Given the description of an element on the screen output the (x, y) to click on. 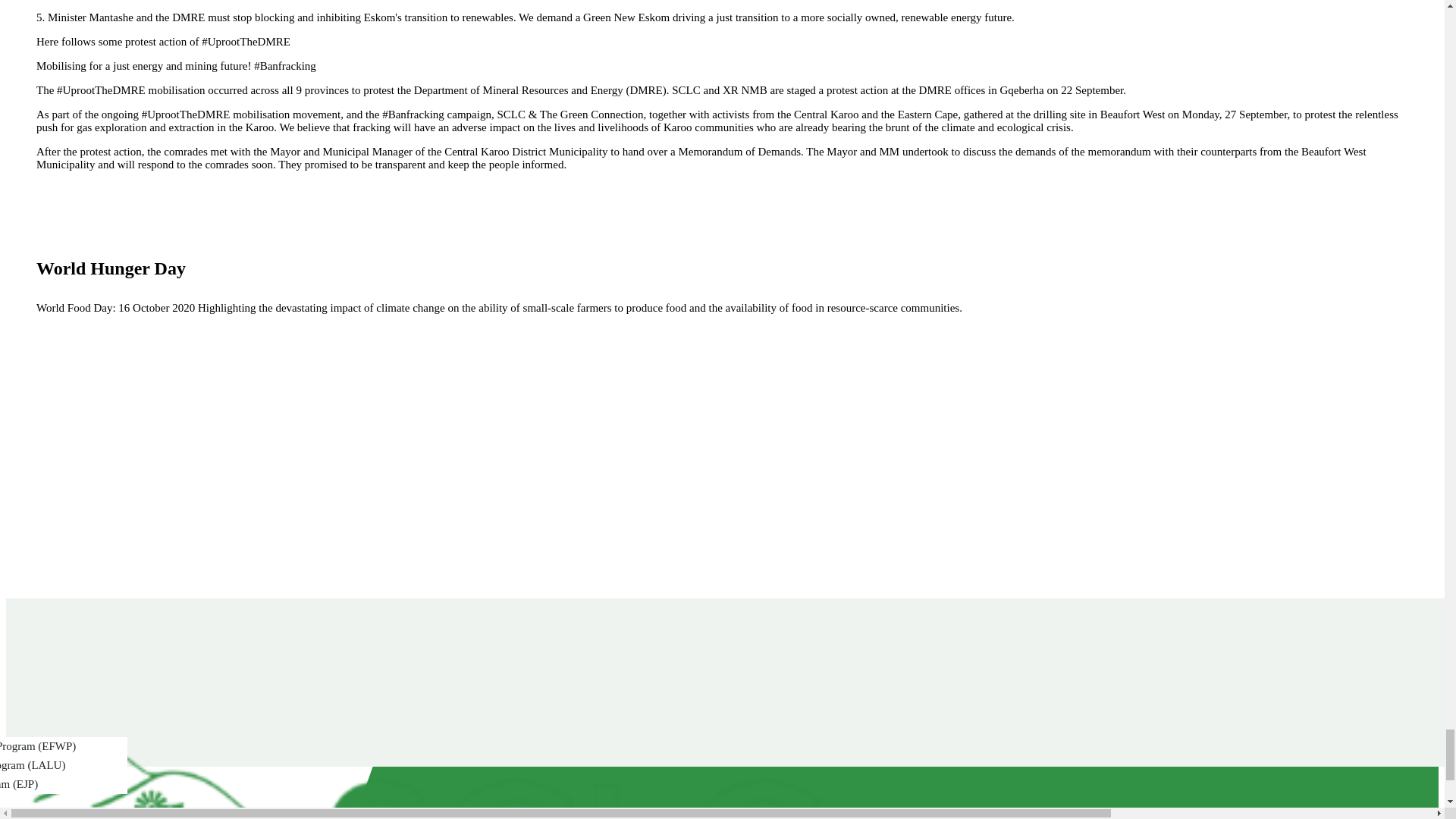
YouTube video player (264, 445)
